Given the description of an element on the screen output the (x, y) to click on. 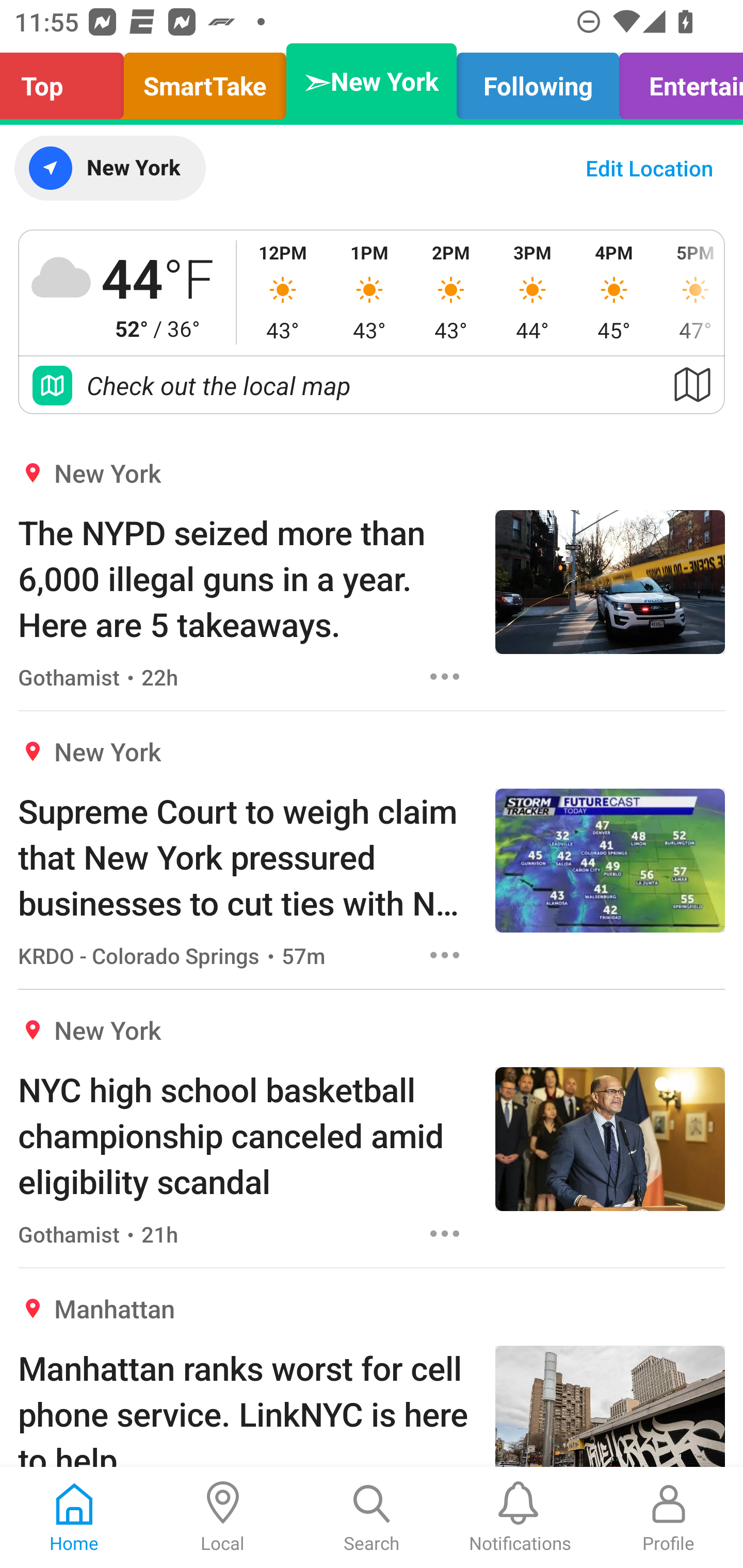
Top (67, 81)
SmartTake (204, 81)
➣New York (371, 81)
Following (537, 81)
New York (109, 168)
Edit Location (648, 168)
12PM 43° (282, 291)
1PM 43° (369, 291)
2PM 43° (450, 291)
3PM 44° (532, 291)
4PM 45° (613, 291)
5PM 47° (689, 291)
Check out the local map (371, 384)
Options (444, 676)
Options (444, 954)
Options (444, 1233)
Local (222, 1517)
Search (371, 1517)
Notifications (519, 1517)
Profile (668, 1517)
